Given the description of an element on the screen output the (x, y) to click on. 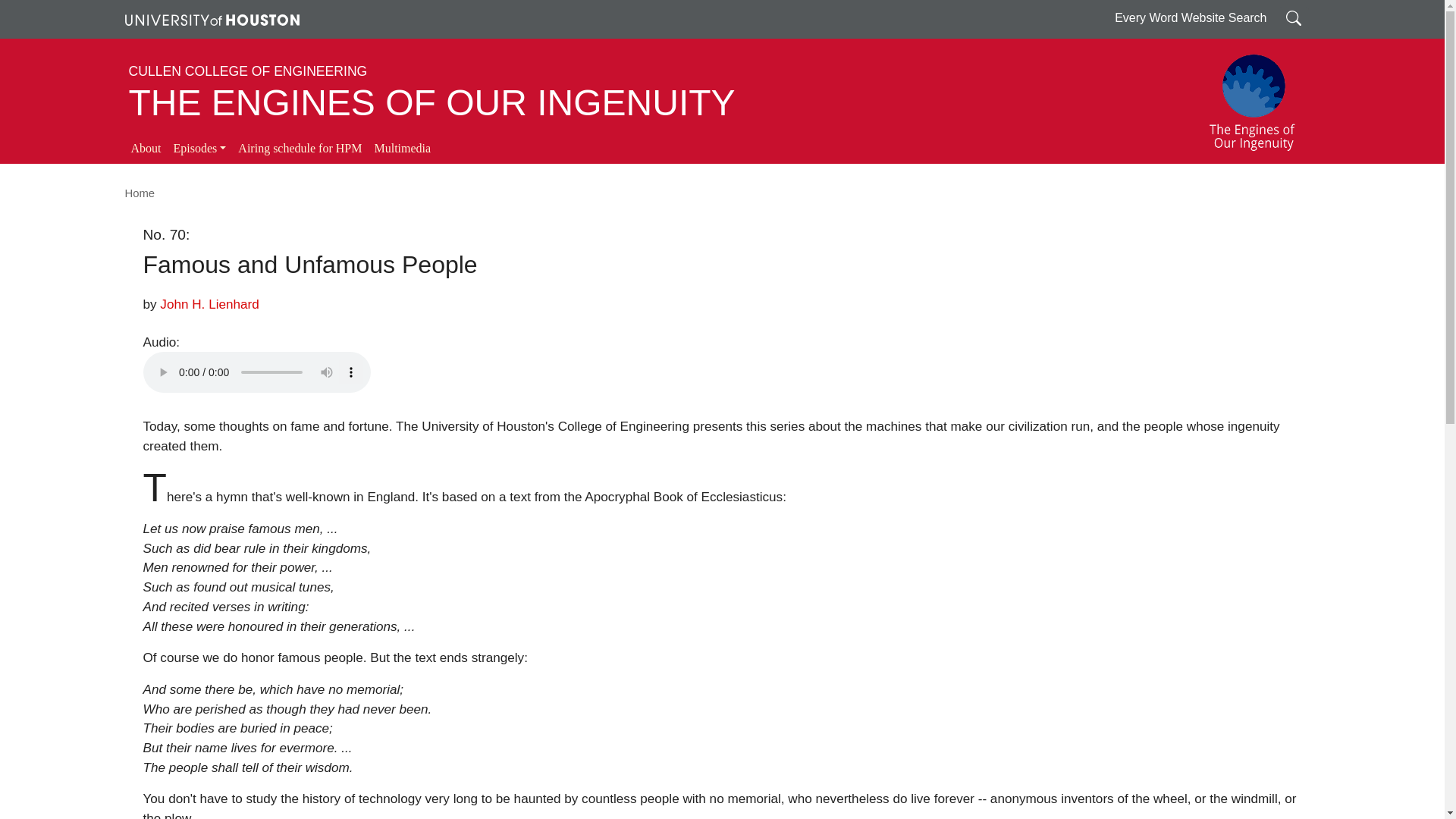
John H. Lienhard (209, 304)
Home (138, 193)
About (145, 148)
THE ENGINES OF OUR INGENUITY (432, 102)
CULLEN COLLEGE OF ENGINEERING (248, 70)
About (145, 148)
Episodes (199, 148)
Enter the terms you wish to search for. (1293, 17)
Multimedia (402, 148)
Airing schedule for HPM (299, 148)
